Given the description of an element on the screen output the (x, y) to click on. 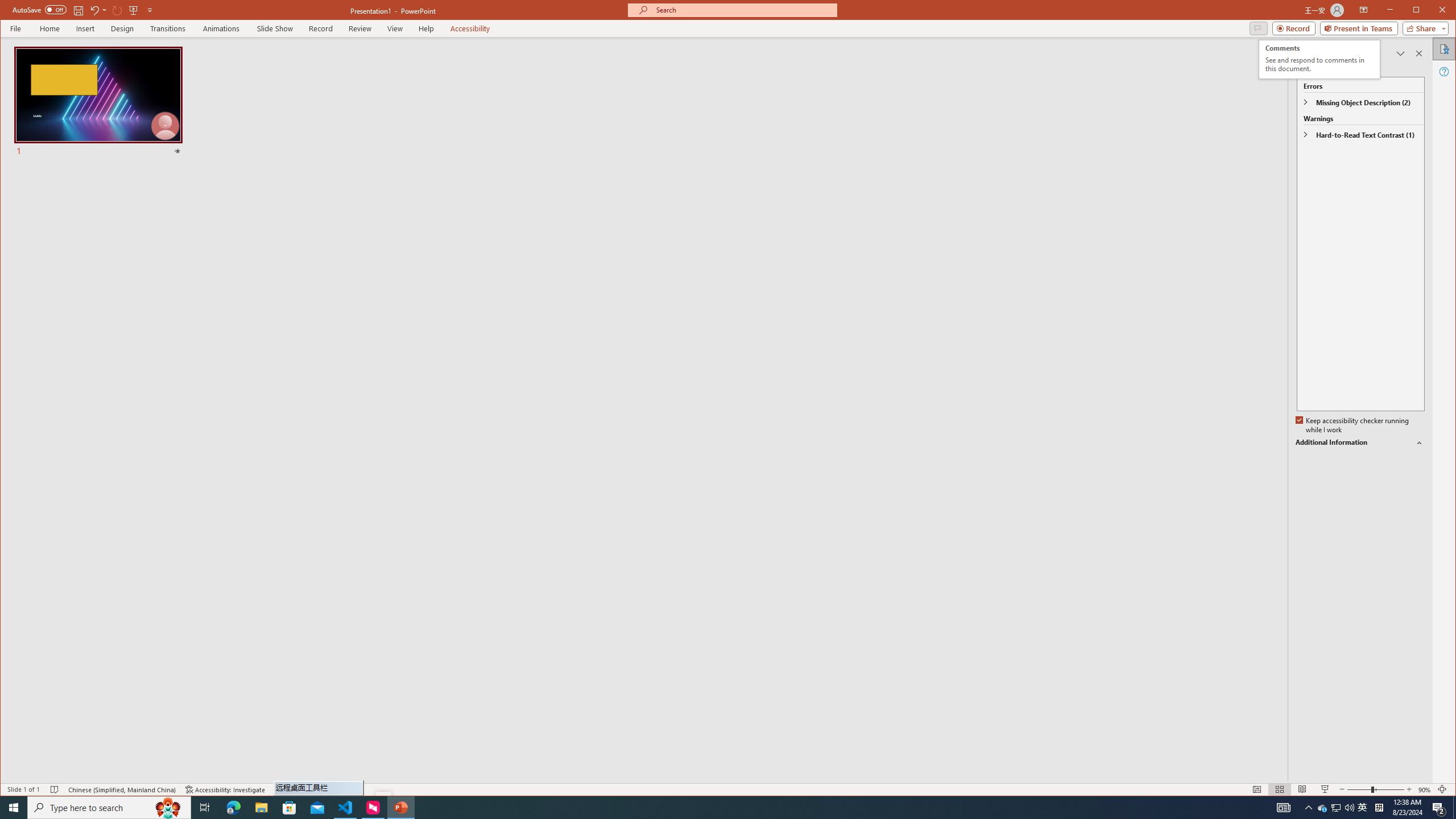
Show desktop (1454, 807)
User Promoted Notification Area (1335, 807)
Type here to search (1336, 807)
Microsoft Edge (108, 807)
Action Center, 2 new notifications (233, 807)
